Given the description of an element on the screen output the (x, y) to click on. 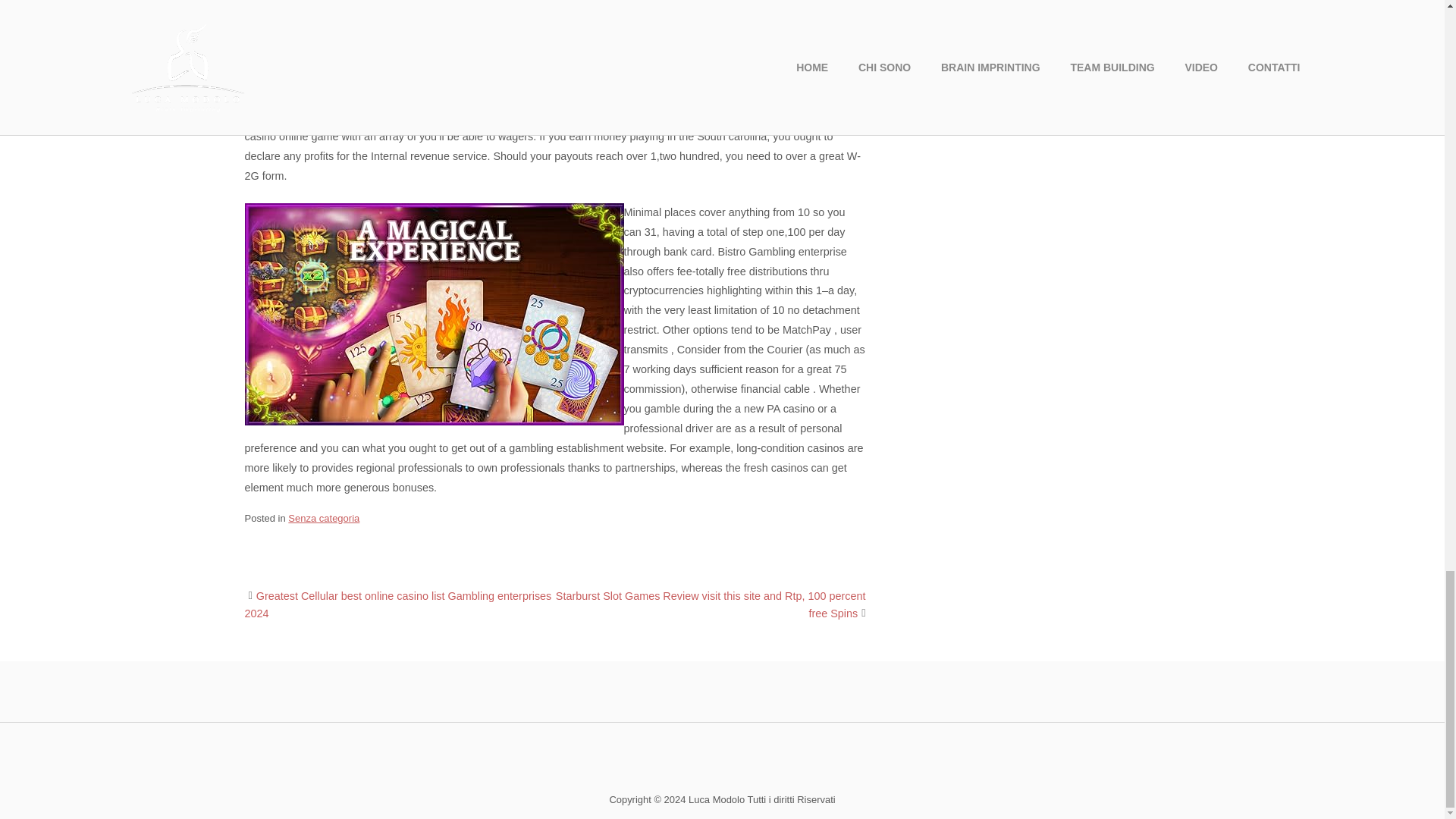
Senza categoria (323, 518)
